Given the description of an element on the screen output the (x, y) to click on. 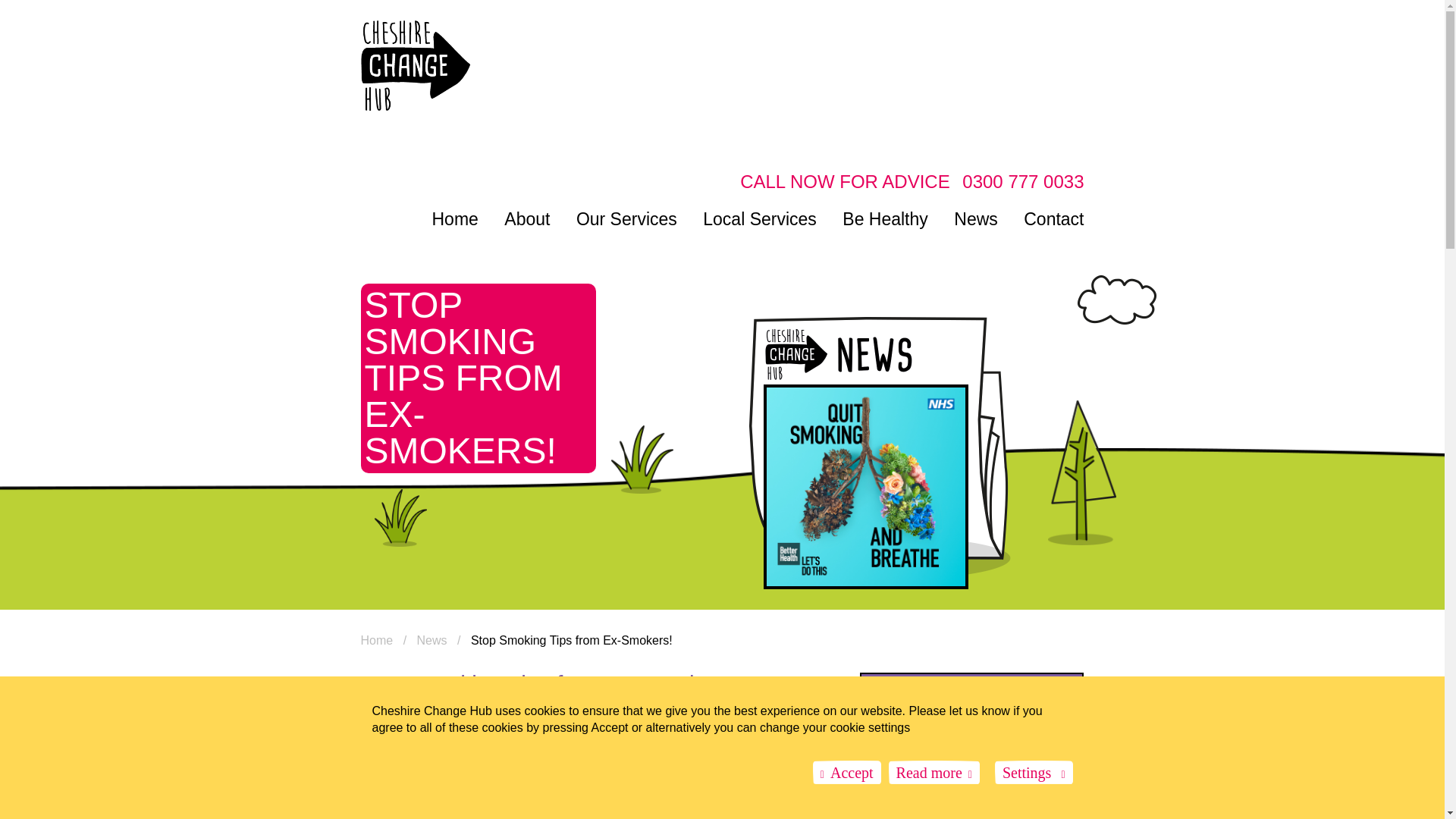
Be Healthy (885, 218)
0300 777 0033 (1022, 181)
Back to latest news (972, 727)
News (975, 218)
Our Services (626, 218)
Sarah Stop Smoking Tips (463, 808)
Local Services (759, 218)
About (526, 218)
Home (377, 640)
News (431, 640)
Home (455, 218)
Contact (1053, 218)
